Given the description of an element on the screen output the (x, y) to click on. 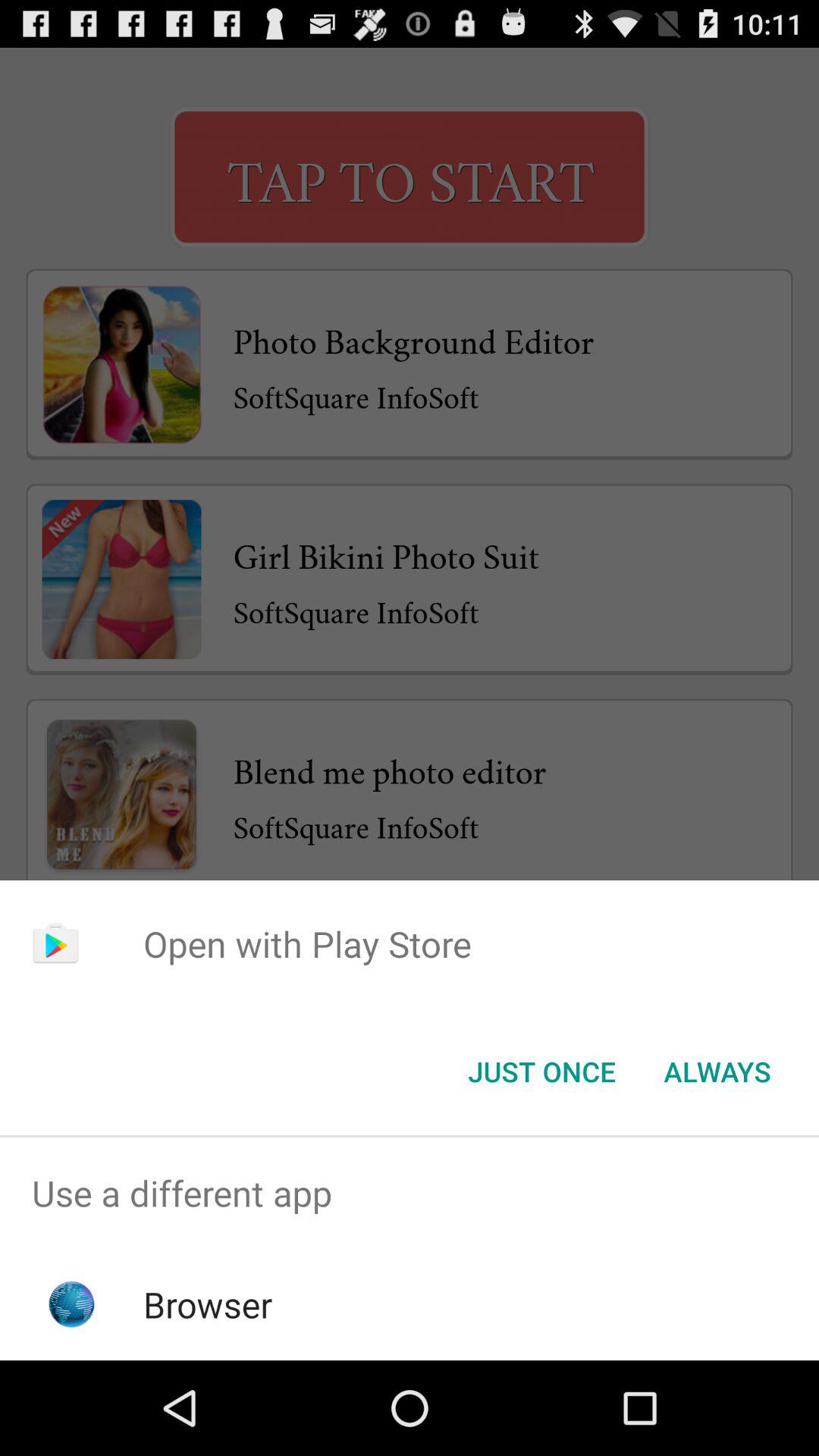
press the icon next to always (541, 1071)
